Given the description of an element on the screen output the (x, y) to click on. 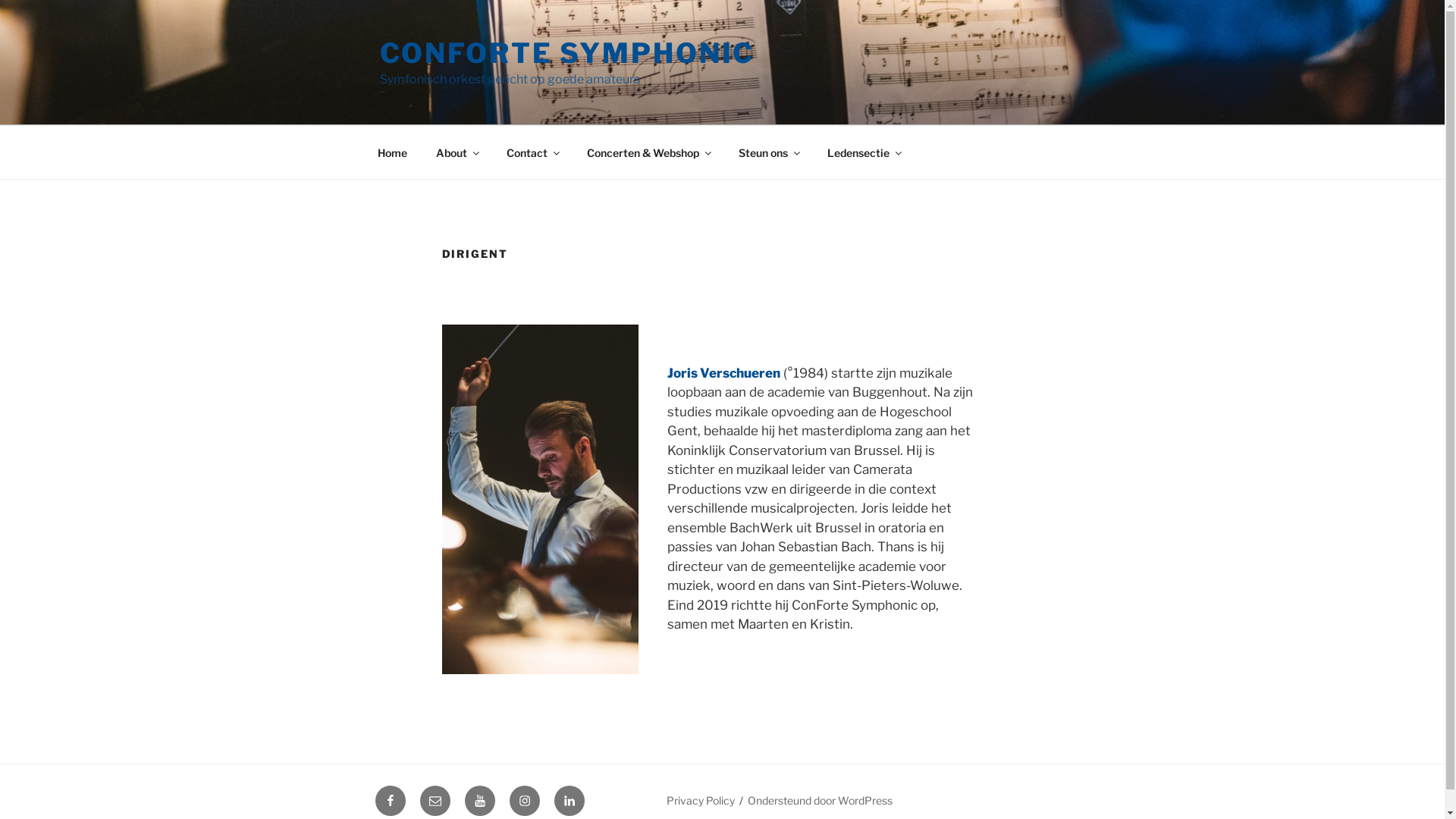
Email Element type: text (435, 800)
Steun ons Element type: text (767, 151)
Contact Element type: text (531, 151)
YouTube Element type: text (479, 800)
About Element type: text (457, 151)
Facebook Element type: text (389, 800)
LinkedIn Element type: text (568, 800)
Home Element type: text (392, 151)
Ledensectie Element type: text (863, 151)
Privacy Policy Element type: text (700, 799)
Ondersteund door WordPress Element type: text (819, 799)
CONFORTE SYMPHONIC Element type: text (566, 52)
Instagram Element type: text (524, 800)
Concerten & Webshop Element type: text (647, 151)
